Given the description of an element on the screen output the (x, y) to click on. 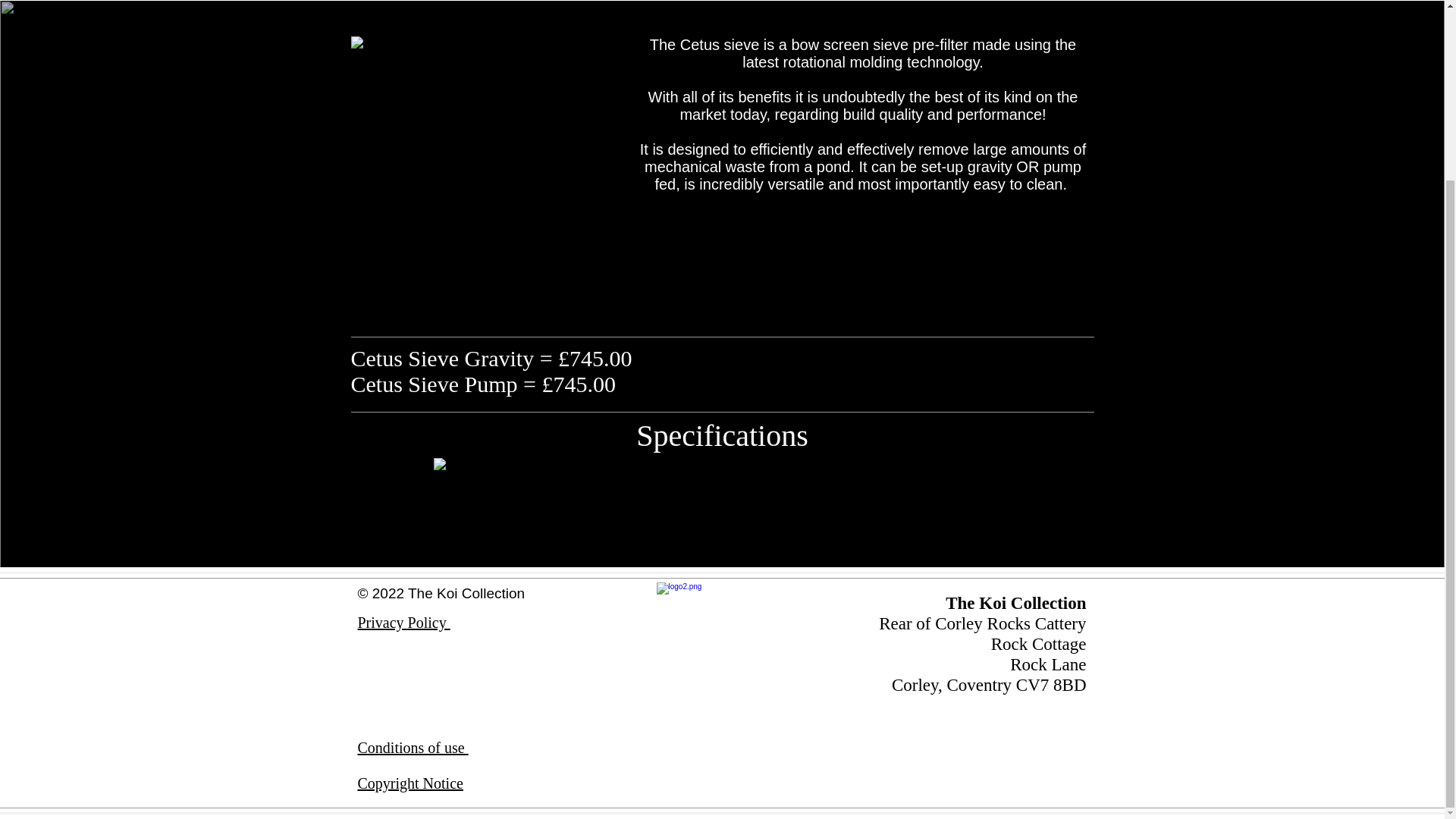
Copyright Notice (410, 782)
Conditions of use  (413, 747)
Privacy Policy  (403, 622)
